Given the description of an element on the screen output the (x, y) to click on. 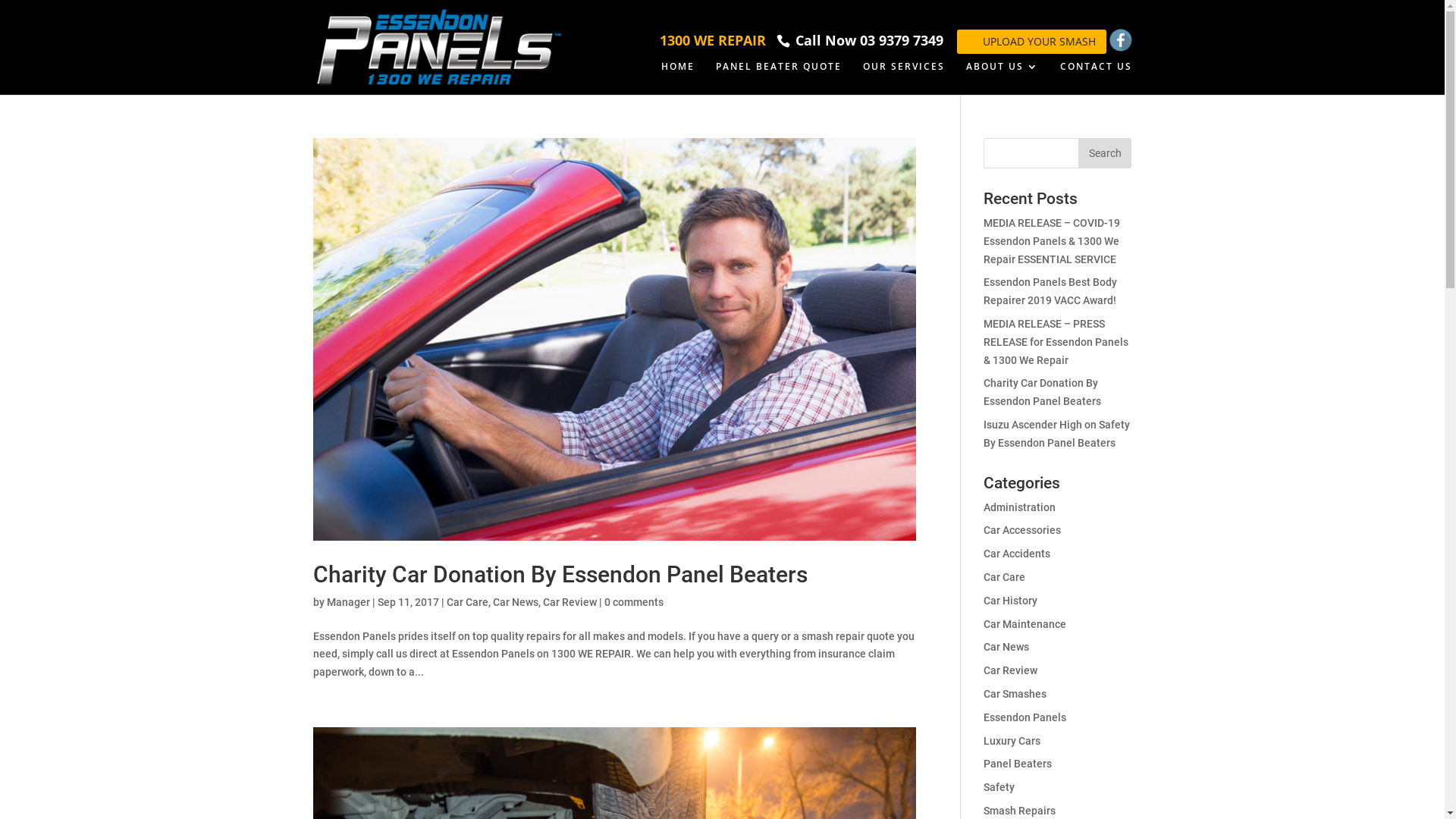
Car News Element type: text (1006, 646)
Car Accessories Element type: text (1021, 530)
Isuzu Ascender High on Safety By Essendon Panel Beaters Element type: text (1056, 433)
Panel Beaters Element type: text (1017, 763)
Manager Element type: text (347, 602)
Car Care Element type: text (1004, 577)
Essendon Panels Element type: text (1024, 717)
Administration Element type: text (1019, 507)
Luxury Cars Element type: text (1011, 740)
Safety Element type: text (998, 787)
Essendon Panels Best Body Repairer 2019 VACC Award! Element type: text (1050, 291)
Car Accidents Element type: text (1016, 553)
Car Care Element type: text (466, 602)
Car News Element type: text (515, 602)
Call Now 03 9379 7349 Element type: text (870, 40)
Car Review Element type: text (1010, 670)
Car Smashes Element type: text (1014, 693)
CONTACT US Element type: text (1096, 77)
HOME Element type: text (677, 77)
ABOUT US Element type: text (1002, 77)
Car History Element type: text (1010, 600)
Charity Car Donation By Essendon Panel Beaters Element type: text (559, 574)
OUR SERVICES Element type: text (903, 77)
Car Review Element type: text (569, 602)
Car Maintenance Element type: text (1024, 624)
Search Element type: text (1104, 153)
Charity Car Donation By Essendon Panel Beaters Element type: text (1042, 391)
PANEL BEATER QUOTE Element type: text (778, 77)
Smash Repairs Element type: text (1019, 810)
0 comments Element type: text (632, 602)
